Given the description of an element on the screen output the (x, y) to click on. 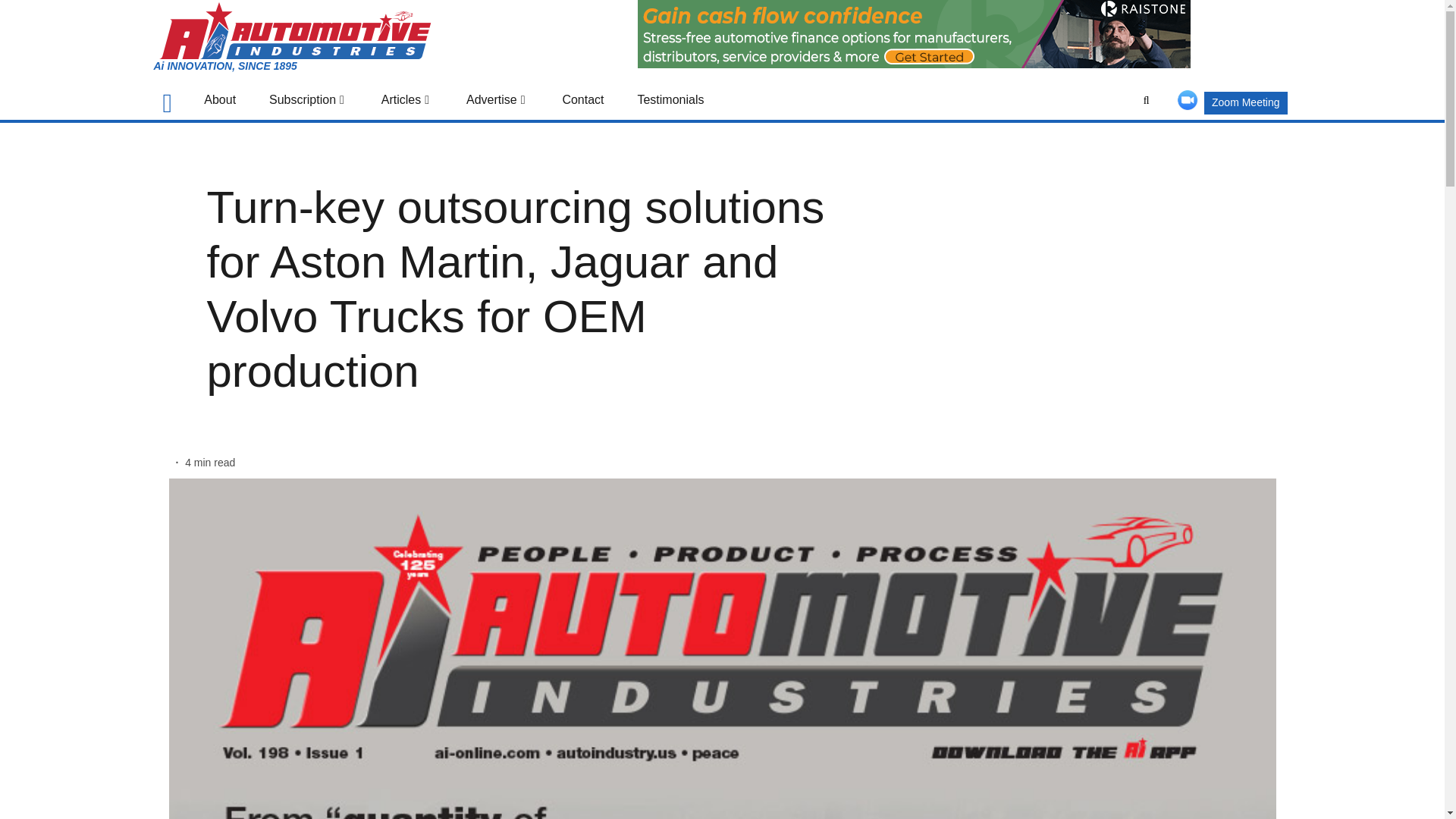
About (219, 99)
Subscription (308, 99)
Articles (406, 99)
